Given the description of an element on the screen output the (x, y) to click on. 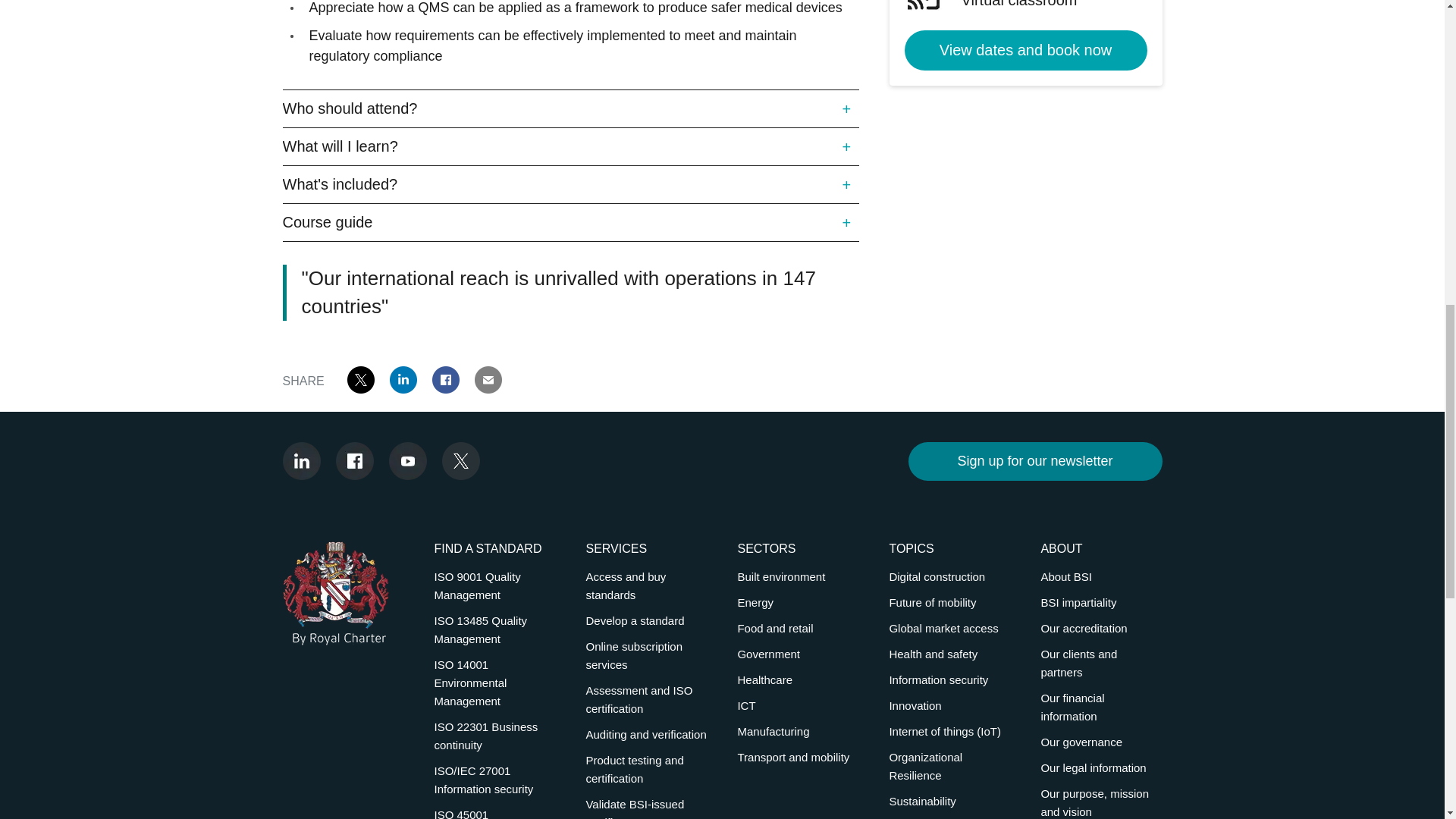
Sign up for our newsletter (1034, 461)
